Given the description of an element on the screen output the (x, y) to click on. 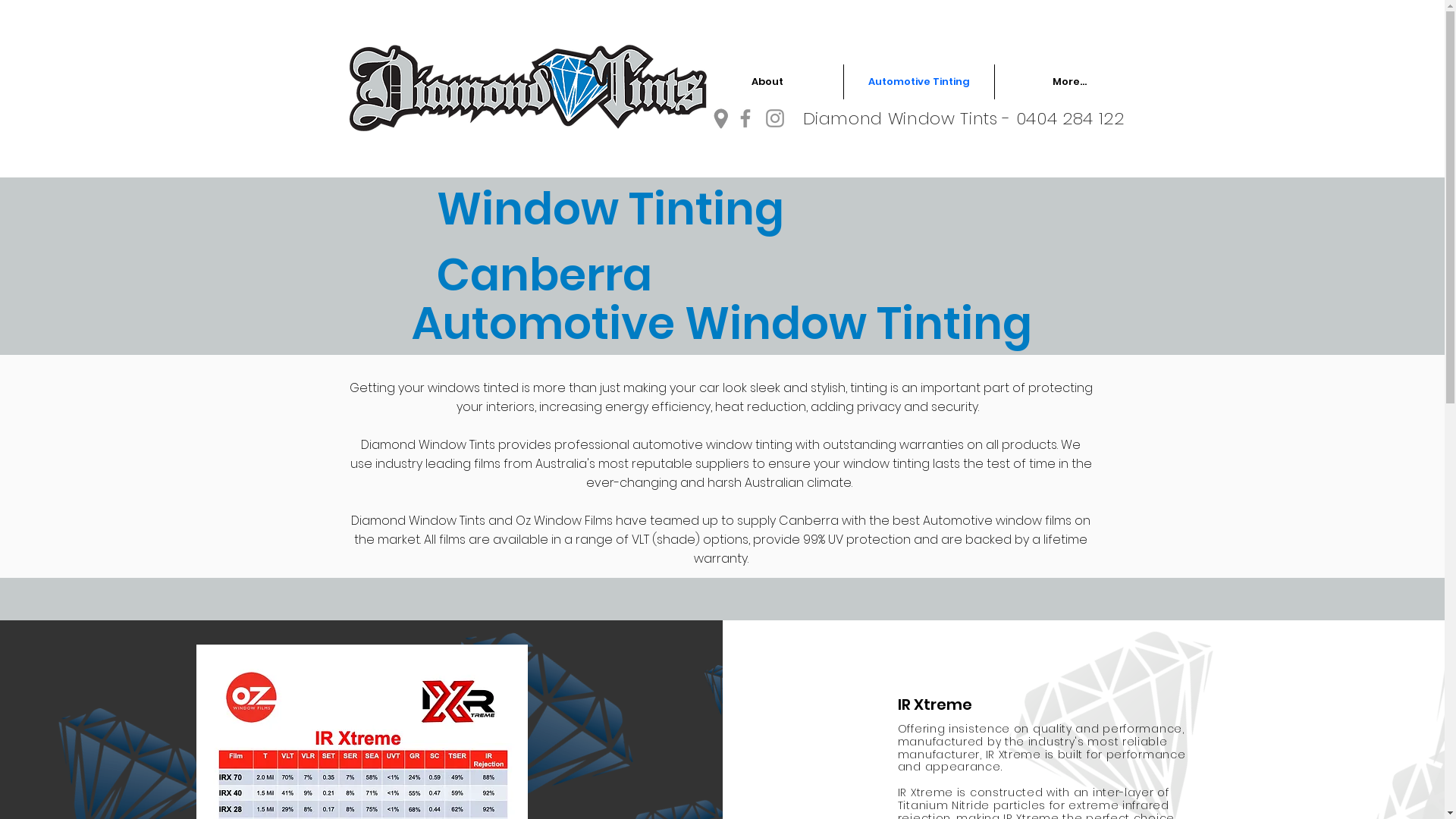
Automotive Tinting Element type: text (918, 81)
Diamond Window Tints - 0404 284 122 Element type: text (962, 118)
About Element type: text (766, 81)
